Given the description of an element on the screen output the (x, y) to click on. 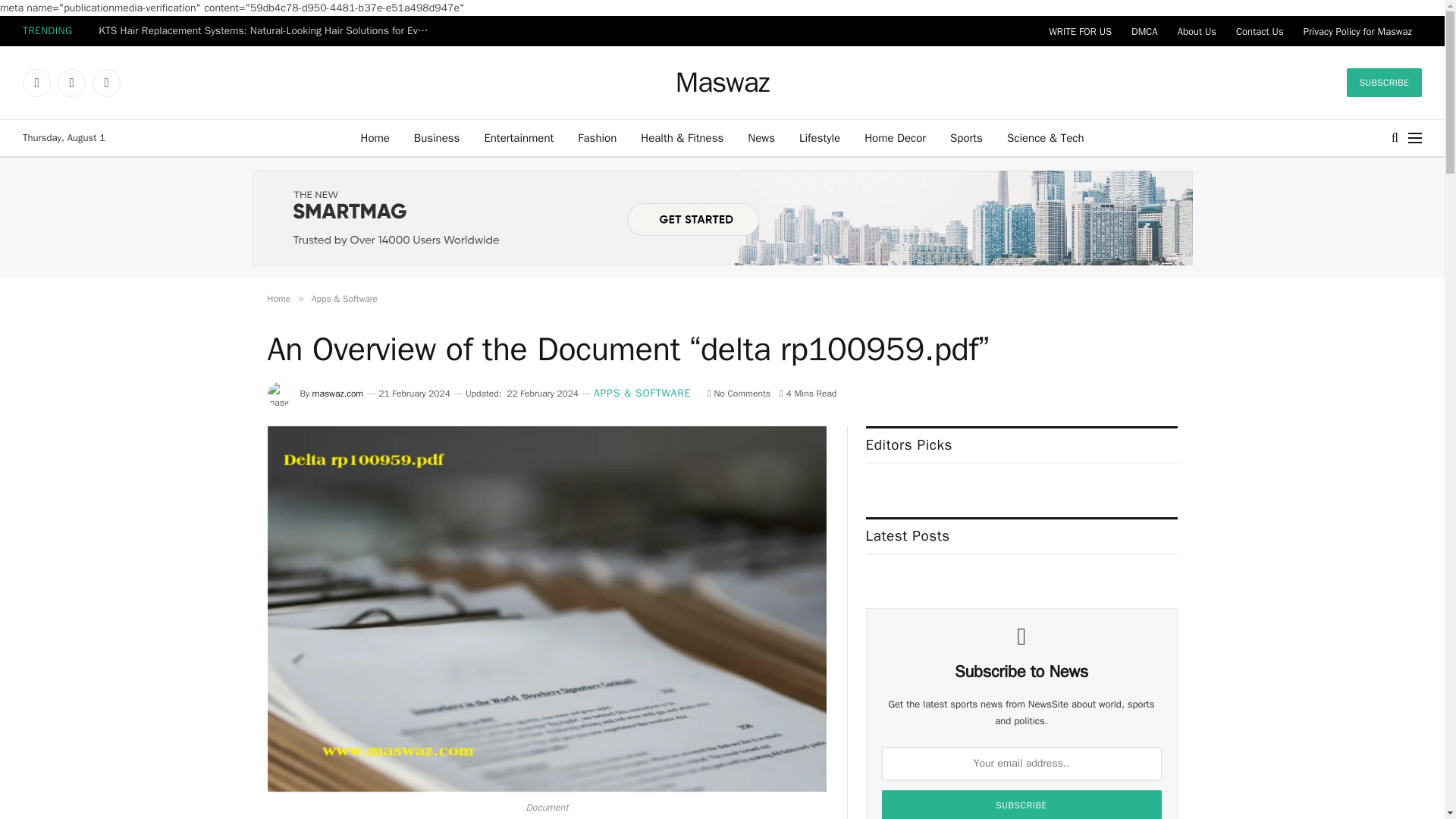
Posts by maswaz.com (338, 393)
SUBSCRIBE (1384, 82)
Fashion (597, 137)
Subscribe (1021, 804)
Lifestyle (819, 137)
News (761, 137)
Home Decor (894, 137)
Sports (965, 137)
Contact Us (1259, 30)
WRITE FOR US (1080, 30)
Privacy Policy for Maswaz (1358, 30)
Home (375, 137)
DMCA (1144, 30)
Entertainment (518, 137)
